Given the description of an element on the screen output the (x, y) to click on. 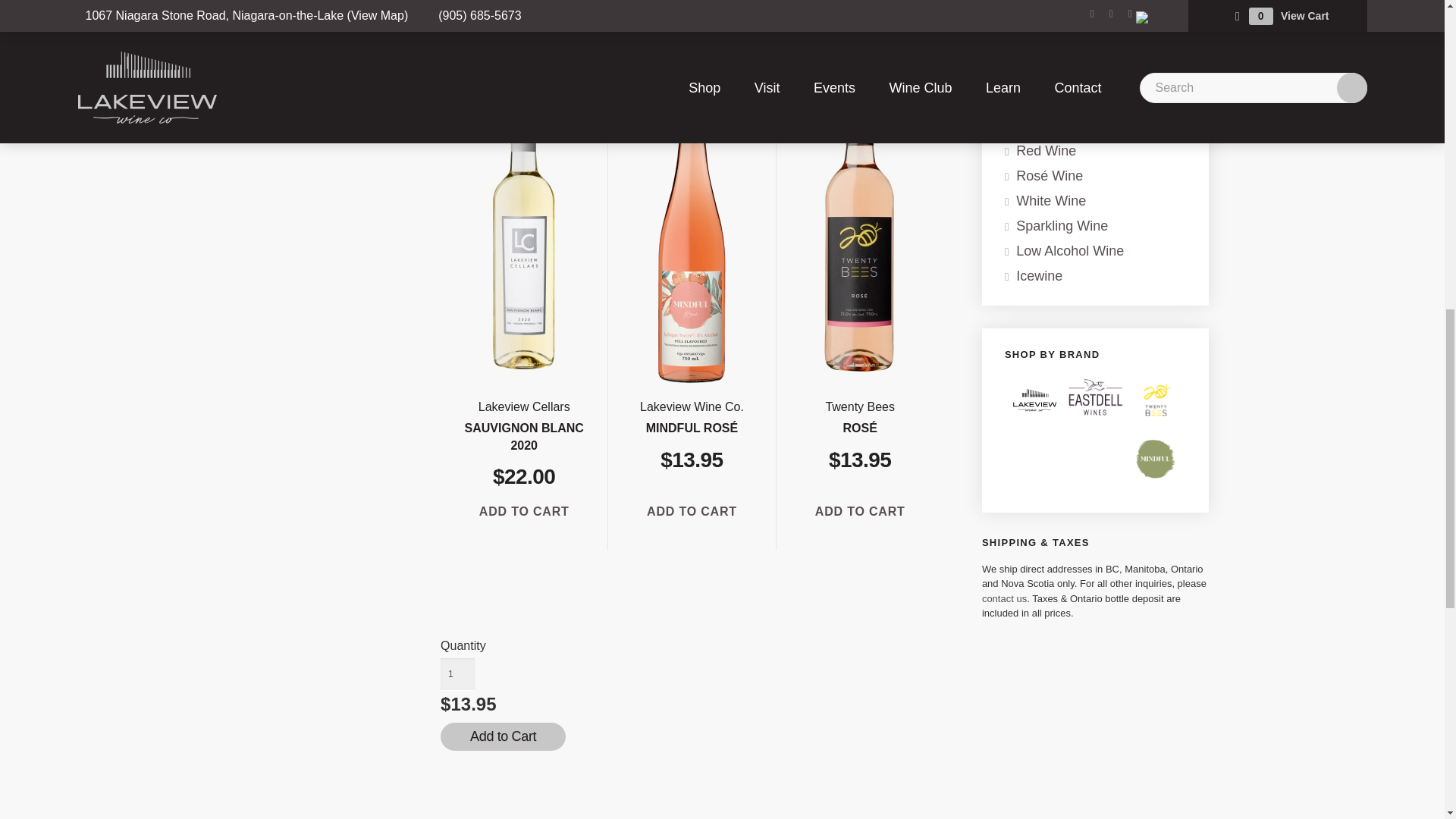
Add to Cart (524, 511)
Add to Cart (503, 736)
Add to Cart (859, 511)
Add to Cart (691, 511)
1 (457, 674)
